Given the description of an element on the screen output the (x, y) to click on. 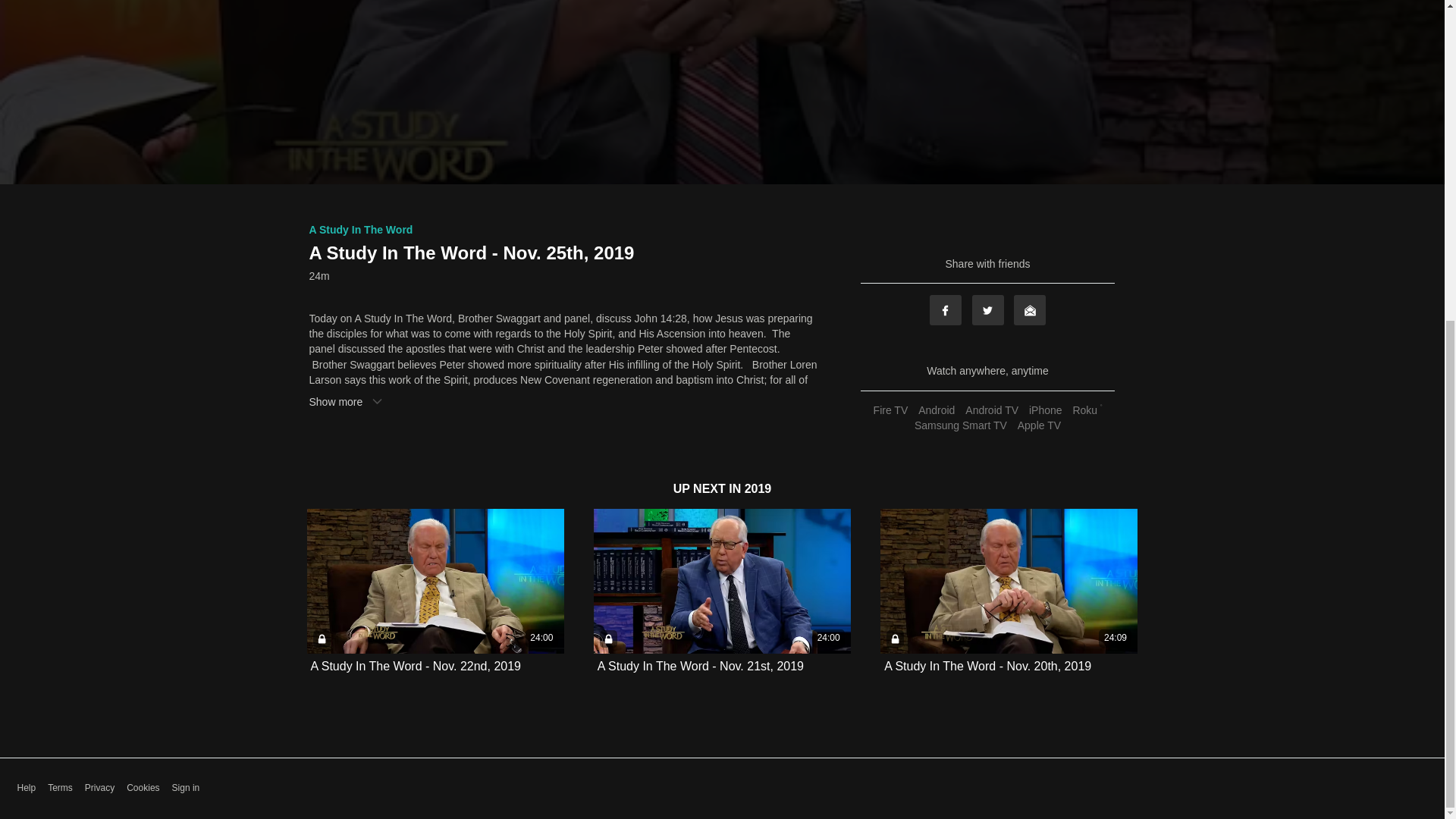
Email (1029, 309)
Android (936, 410)
Facebook (945, 309)
A Study In The Word - Nov. 21st, 2019 (699, 666)
Twitter (988, 309)
Fire TV (890, 410)
A Study In The Word - Nov. 22nd, 2019 (416, 666)
A Study In The Word - Nov. 20th, 2019 (986, 666)
A Study In The Word (360, 229)
